Given the description of an element on the screen output the (x, y) to click on. 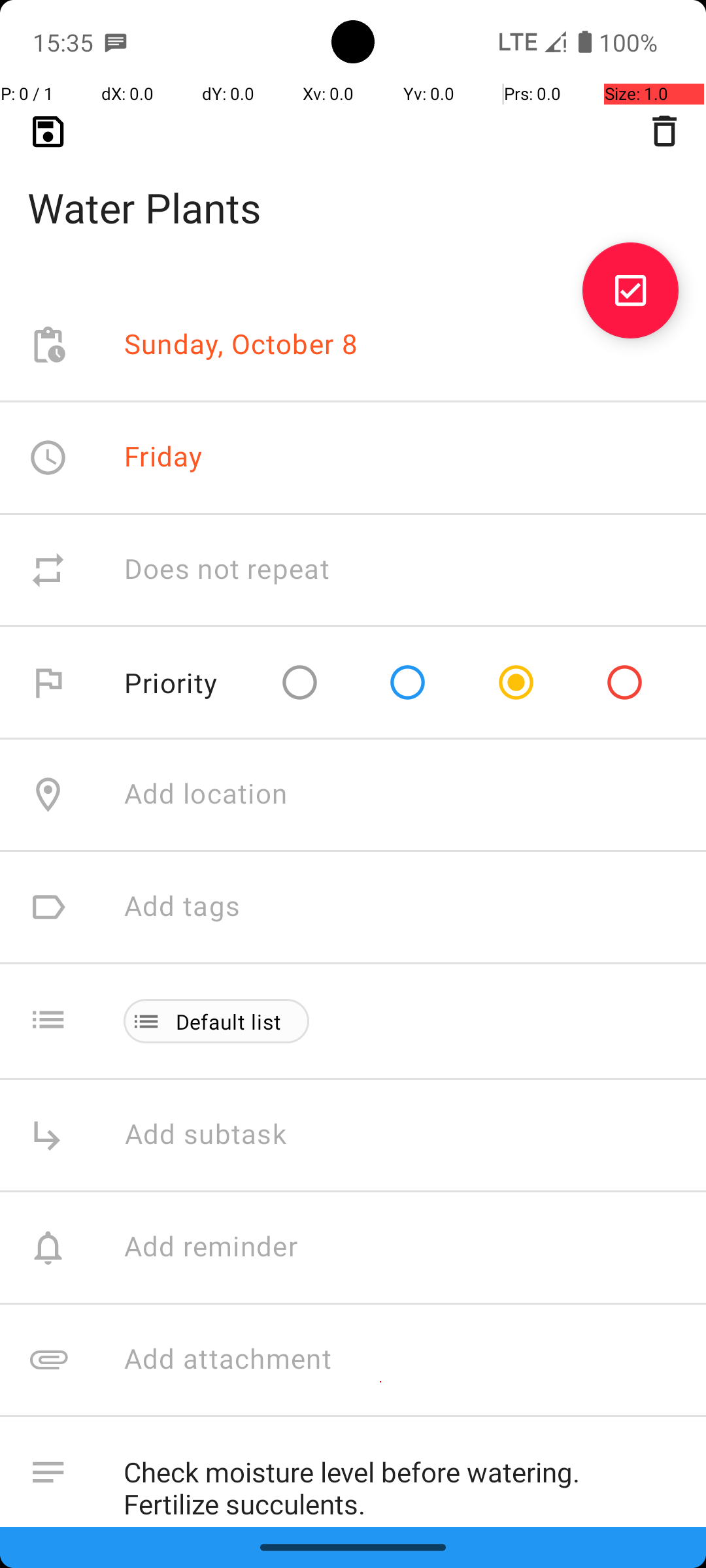
Check moisture level before watering. Fertilize succulents. Element type: android.widget.EditText (400, 1481)
Sunday, October 8 Element type: android.widget.TextView (240, 344)
